Given the description of an element on the screen output the (x, y) to click on. 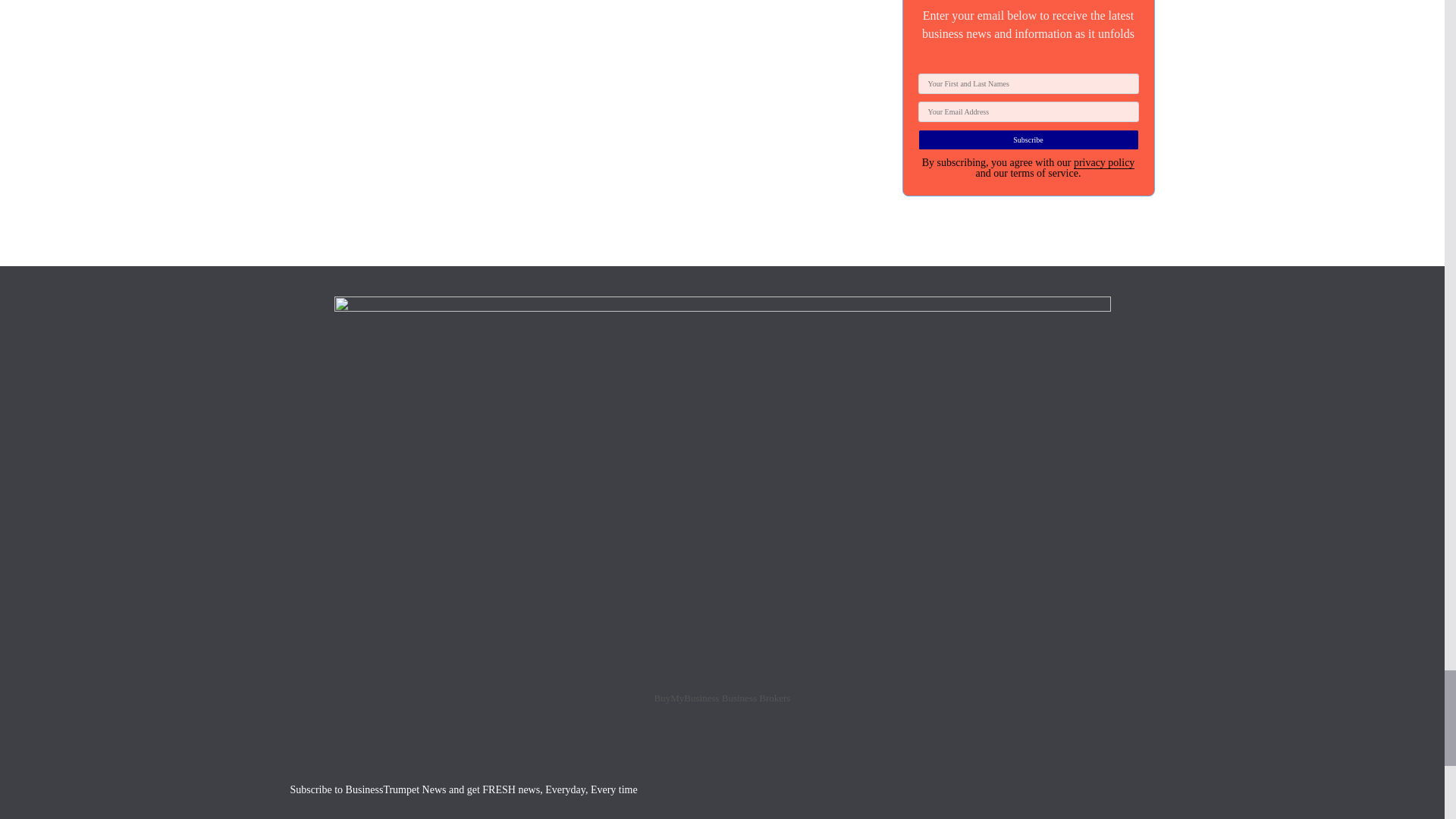
Subscribe (1027, 139)
